Given the description of an element on the screen output the (x, y) to click on. 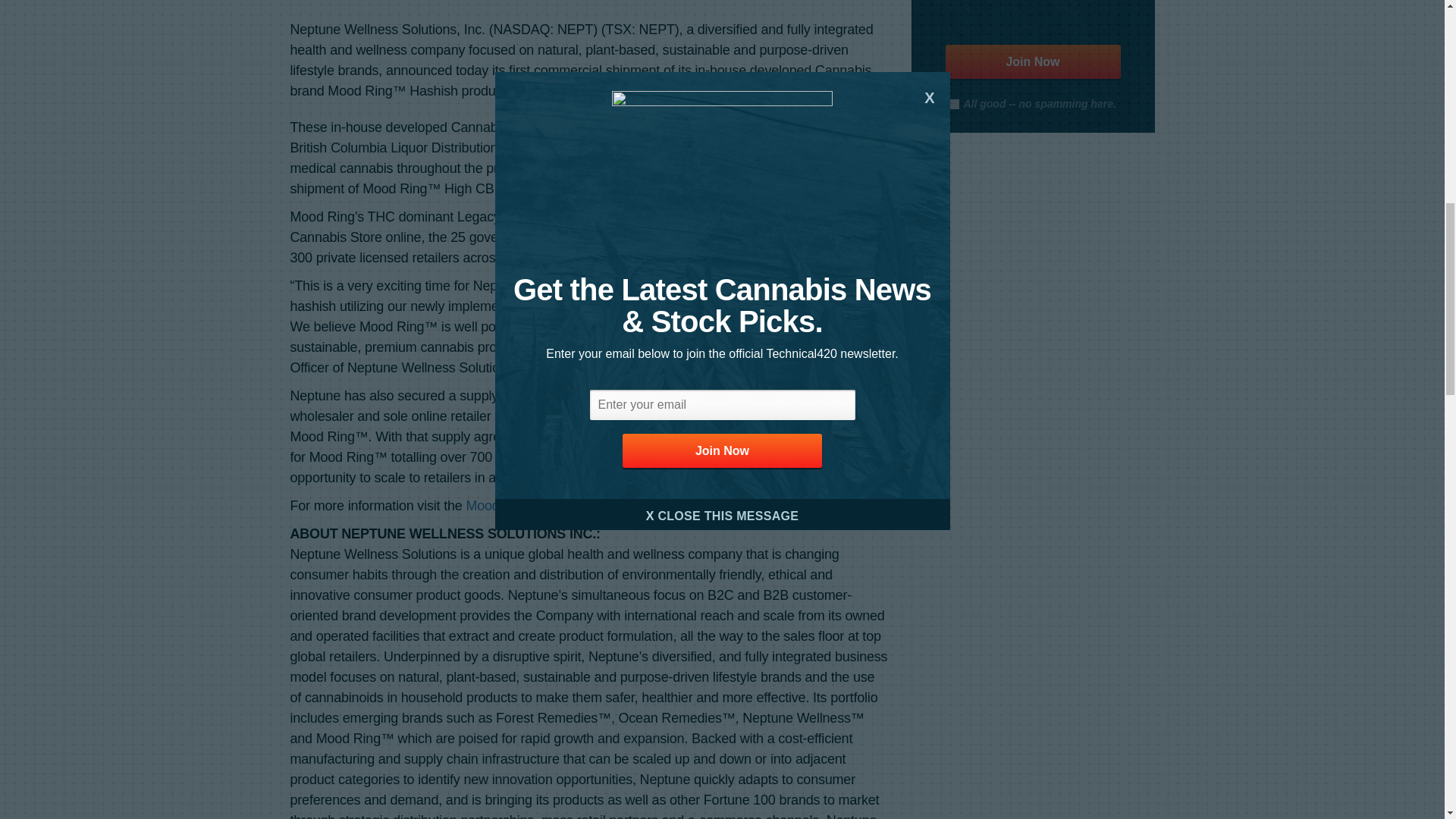
Join Now (1031, 61)
